Given the description of an element on the screen output the (x, y) to click on. 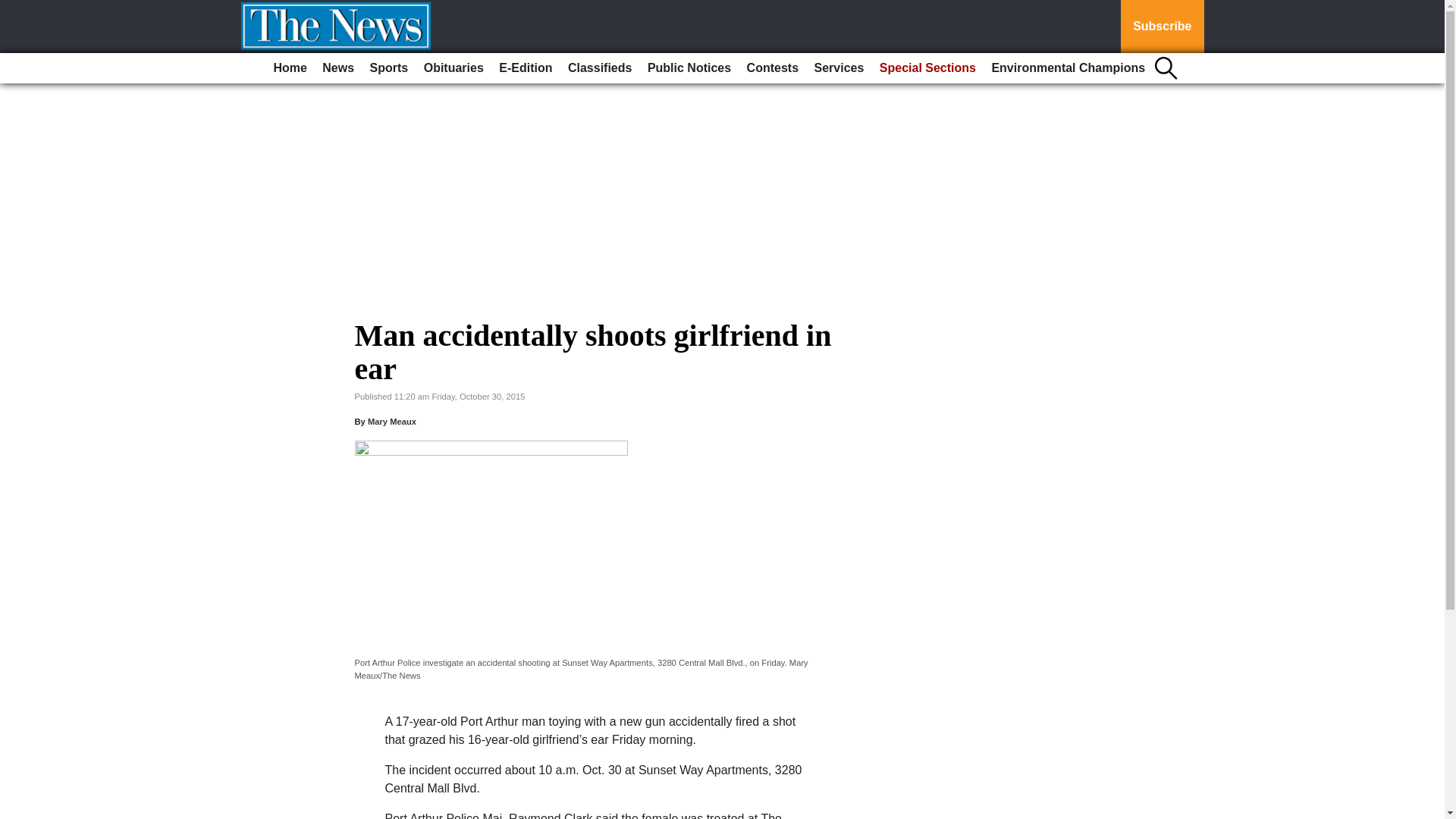
Subscribe (1162, 26)
Special Sections (927, 68)
Sports (389, 68)
Mary Meaux (392, 420)
Classifieds (599, 68)
Home (289, 68)
Public Notices (689, 68)
Environmental Champions (1068, 68)
News (337, 68)
E-Edition (525, 68)
